Given the description of an element on the screen output the (x, y) to click on. 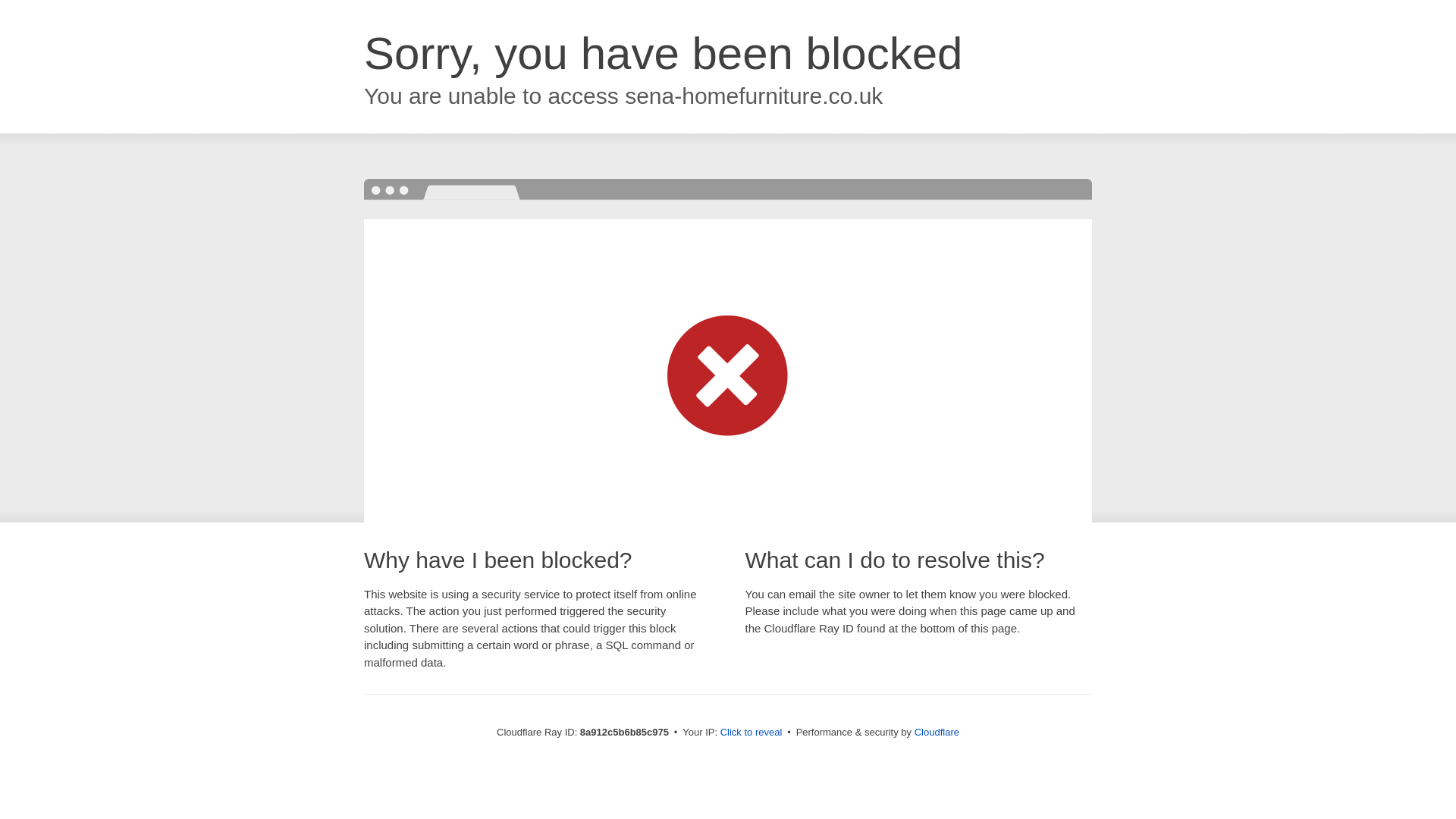
Click to reveal (751, 732)
Cloudflare (936, 731)
